Given the description of an element on the screen output the (x, y) to click on. 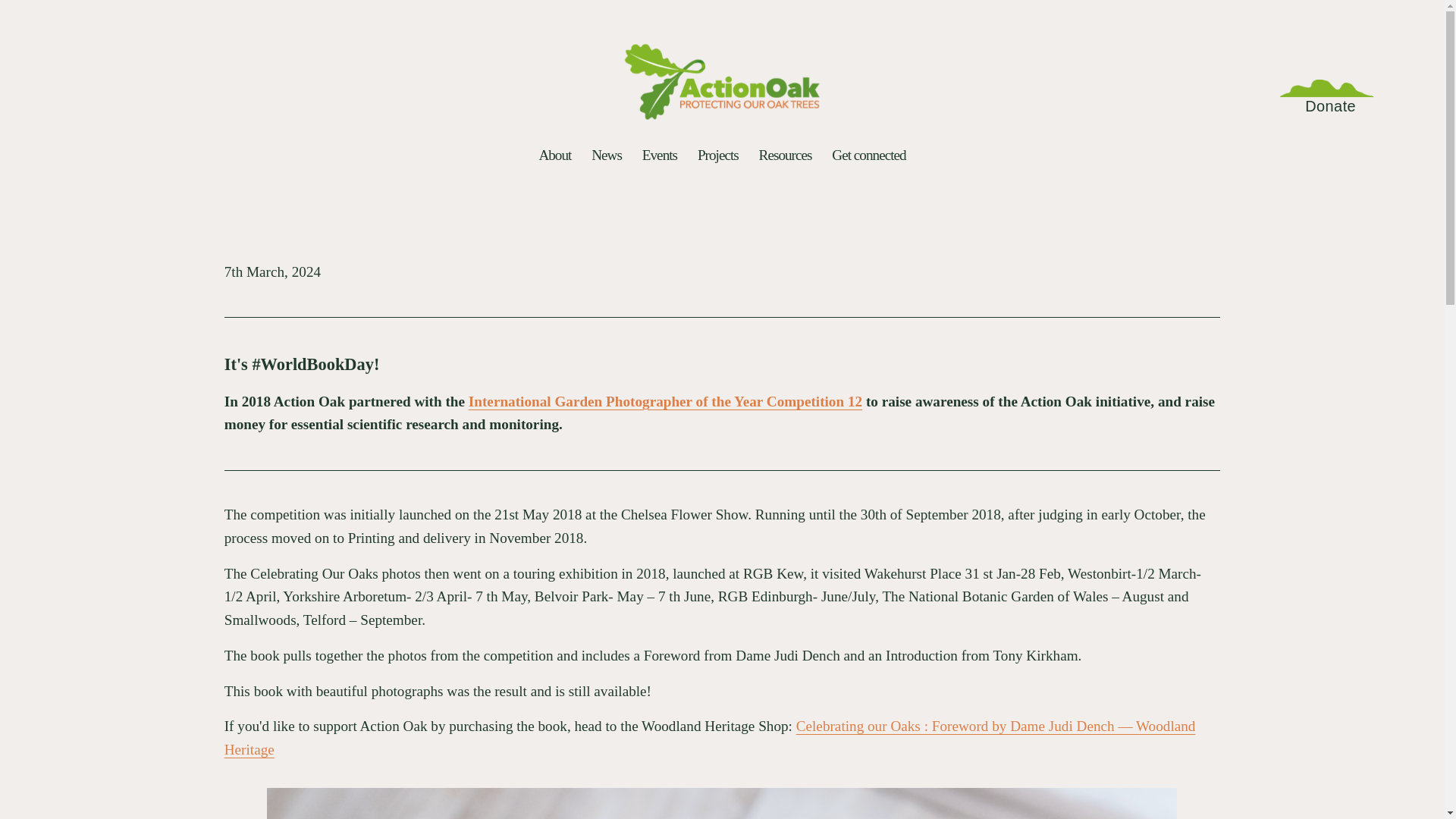
Donate (1330, 106)
Events (659, 155)
About (554, 155)
Projects (717, 155)
Resources (785, 155)
Get connected (868, 155)
News (606, 155)
